Given the description of an element on the screen output the (x, y) to click on. 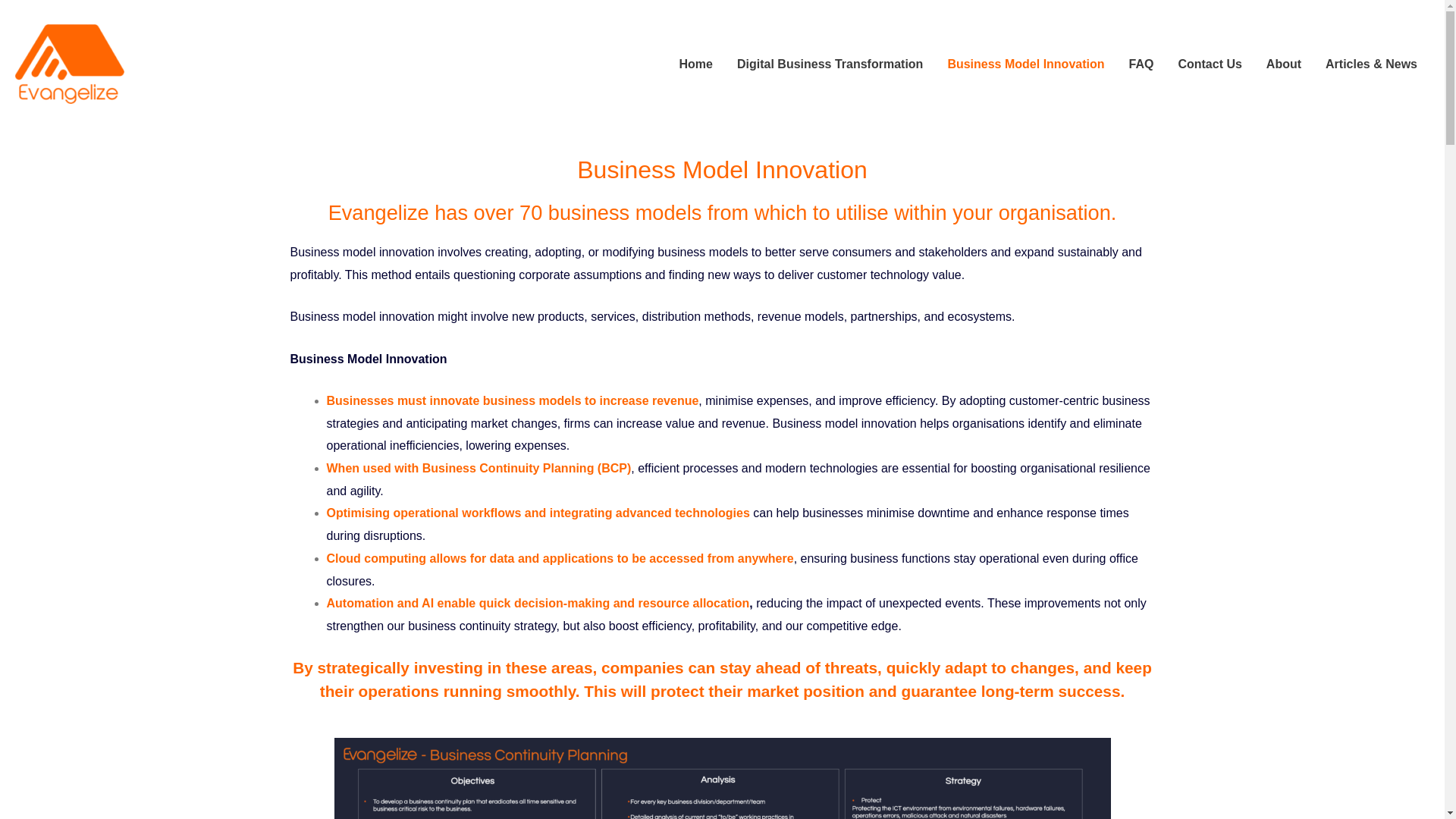
Business Model Innovation (1025, 64)
Contact Us (1209, 64)
About (1283, 64)
Digital Business Transformation (829, 64)
FAQ (1141, 64)
Home (695, 64)
